Given the description of an element on the screen output the (x, y) to click on. 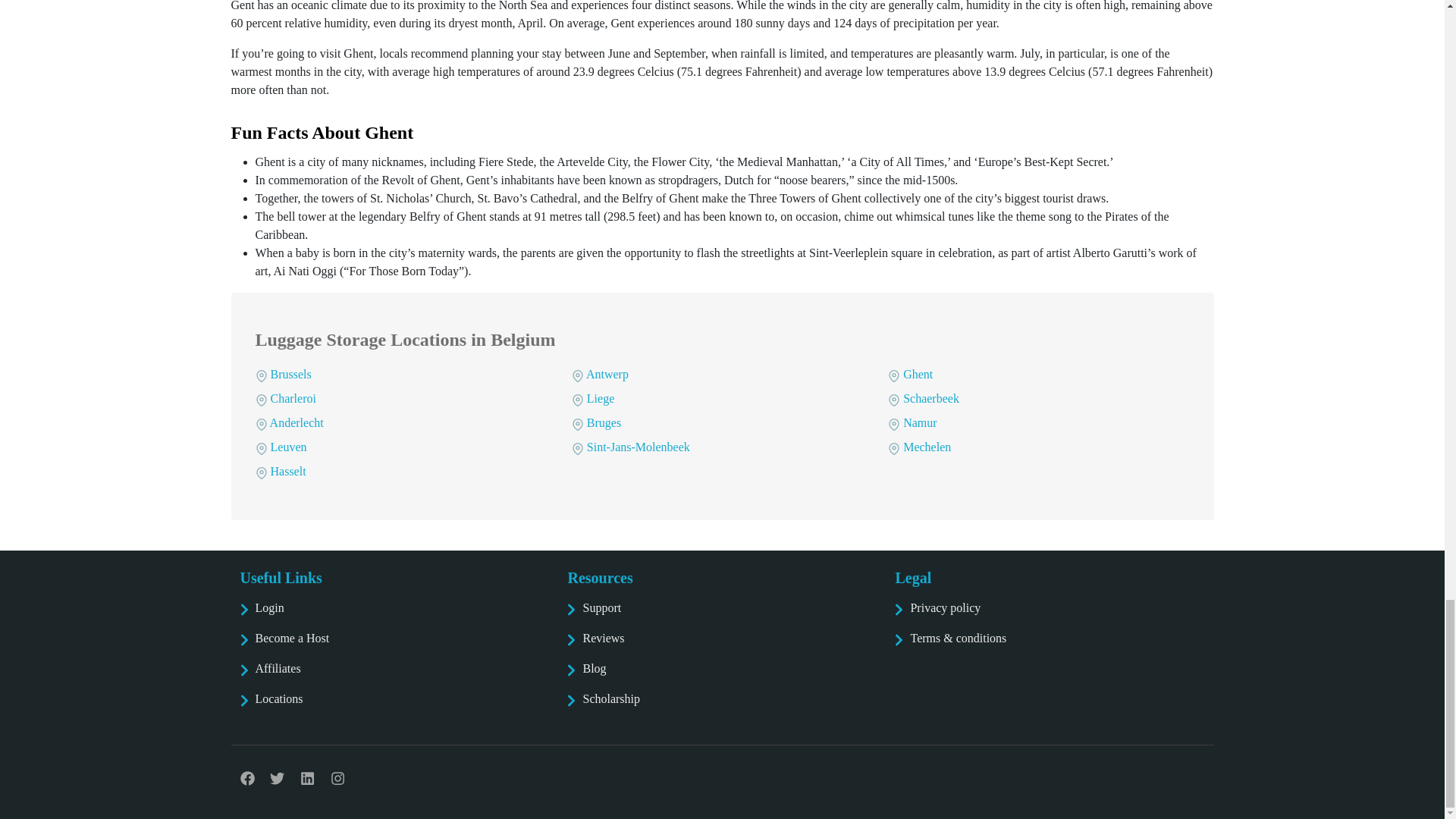
 Namur (912, 422)
Locations (394, 705)
 Ghent (910, 373)
Privacy policy (1049, 613)
 Hasselt (279, 471)
 Sint-Jans-Molenbeek (631, 446)
Become a Host (394, 644)
 Antwerp (600, 373)
 Bruges (596, 422)
Blog (721, 675)
Login (394, 613)
 Anderlecht (288, 422)
 Charleroi (284, 398)
 Brussels (282, 373)
 Leuven (279, 446)
